Given the description of an element on the screen output the (x, y) to click on. 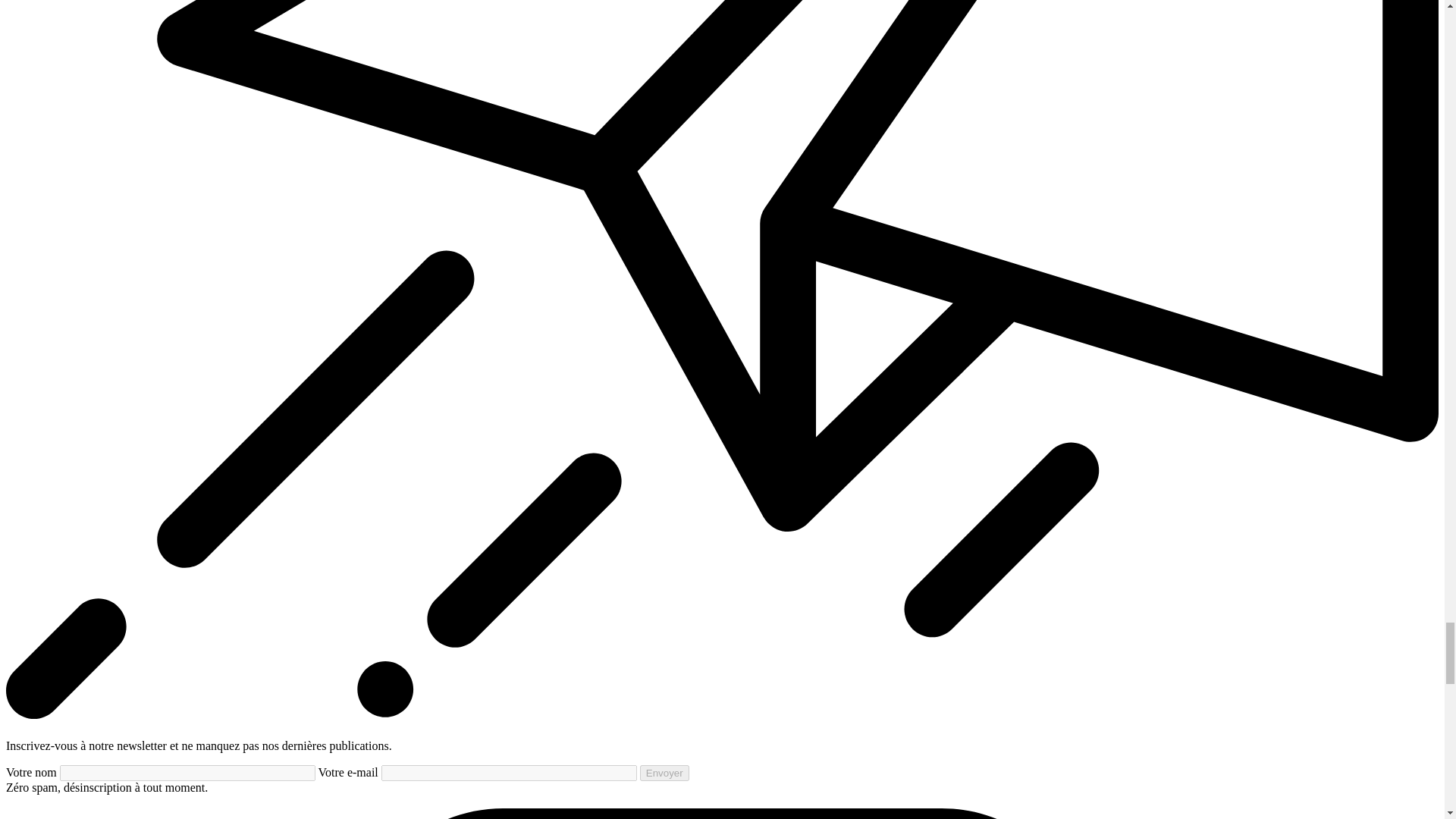
Envoyer (664, 772)
